Given the description of an element on the screen output the (x, y) to click on. 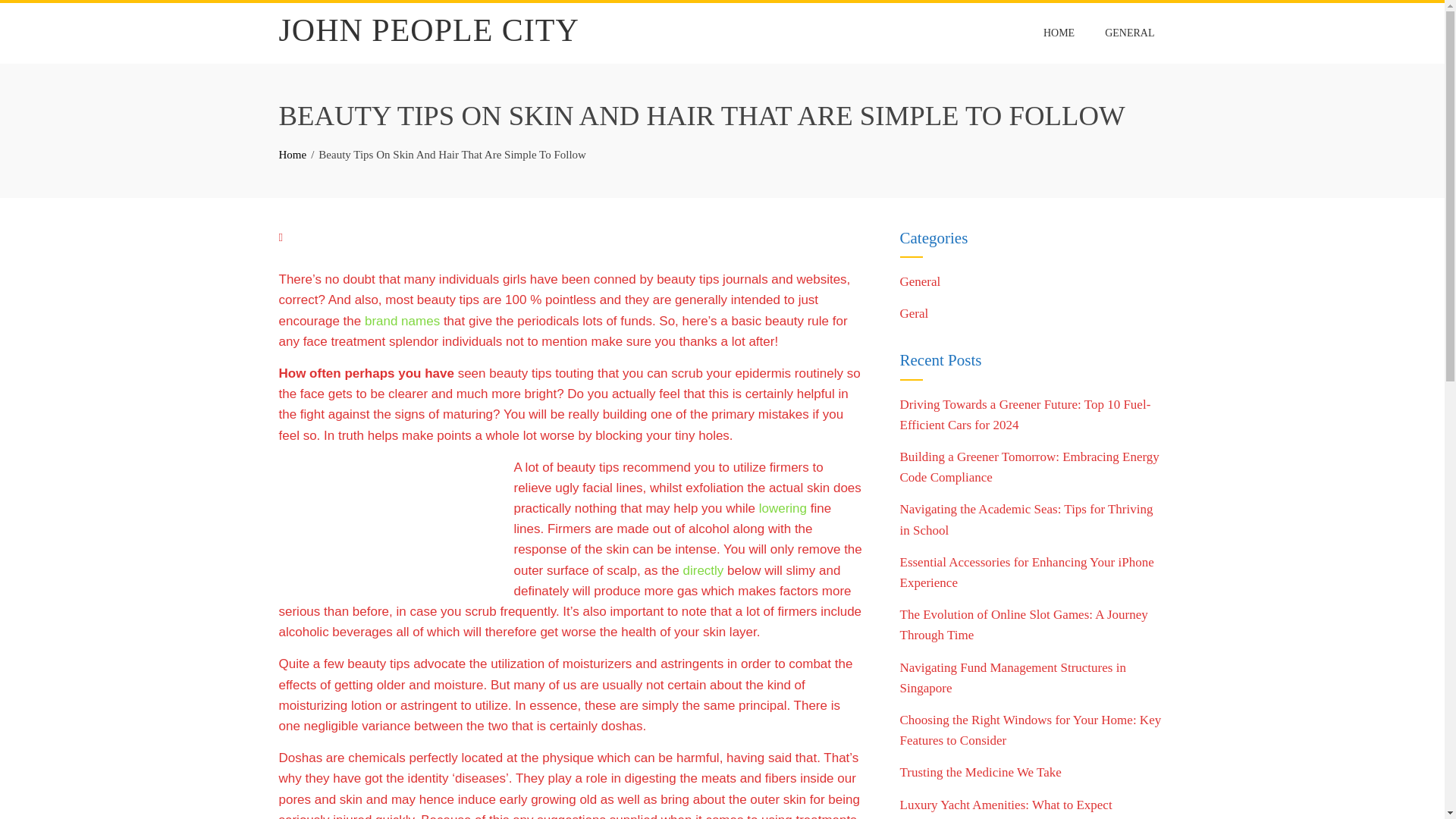
directly (702, 570)
Navigating Fund Management Structures in Singapore (1012, 677)
JOHN PEOPLE CITY (429, 30)
GENERAL (1129, 32)
lowering (782, 508)
brand names (402, 320)
Geral (913, 313)
